Given the description of an element on the screen output the (x, y) to click on. 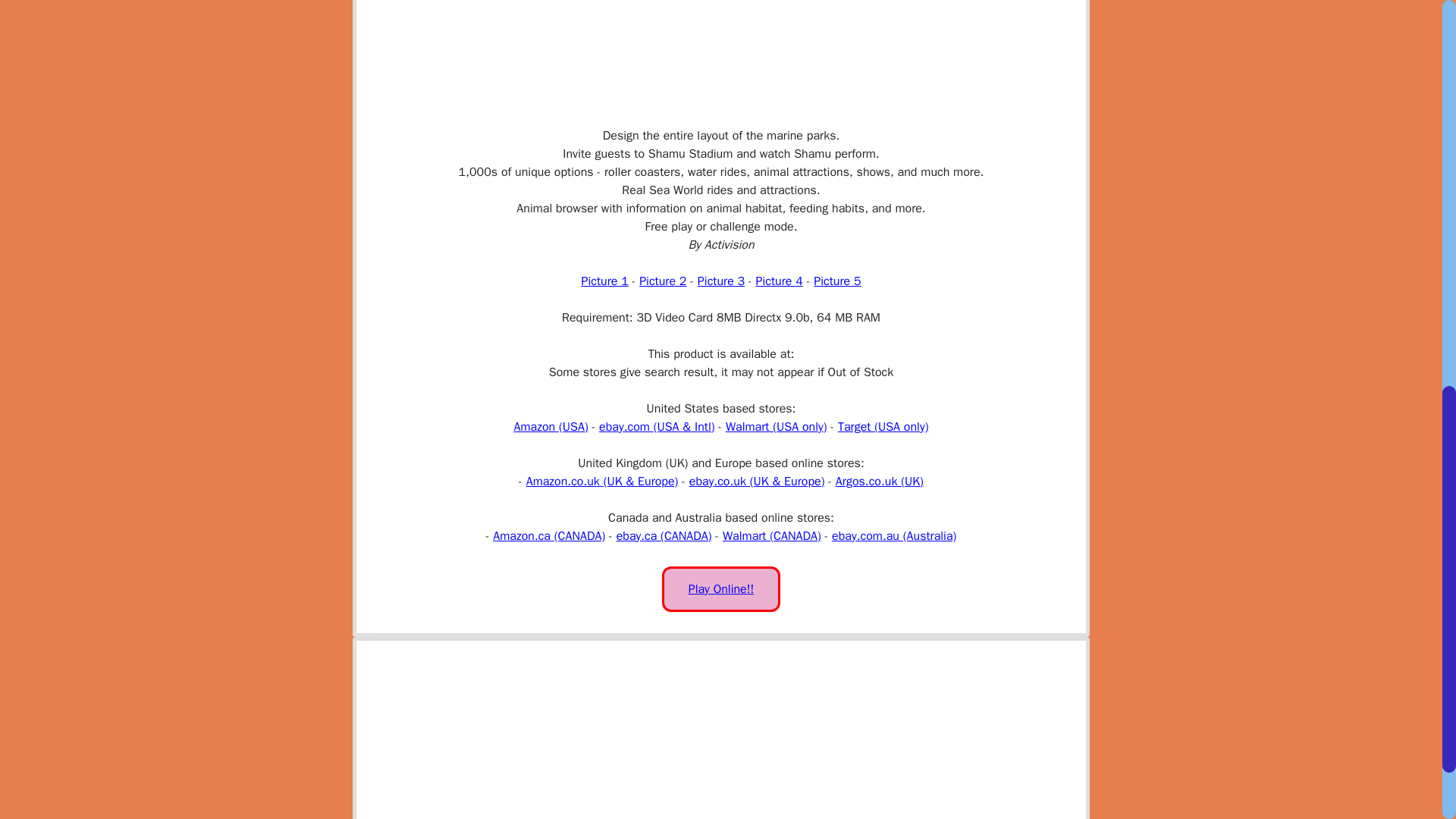
Seaworld dolphins show (662, 280)
SeaWorld Parks Tycoon dolphins habitat (836, 280)
Seaworld Park water attractions (720, 280)
Sea World Park Rollercoaster (603, 280)
SeaWorld Adventure Parks Tycoon 4 (779, 280)
YouTube video player (721, 45)
